Given the description of an element on the screen output the (x, y) to click on. 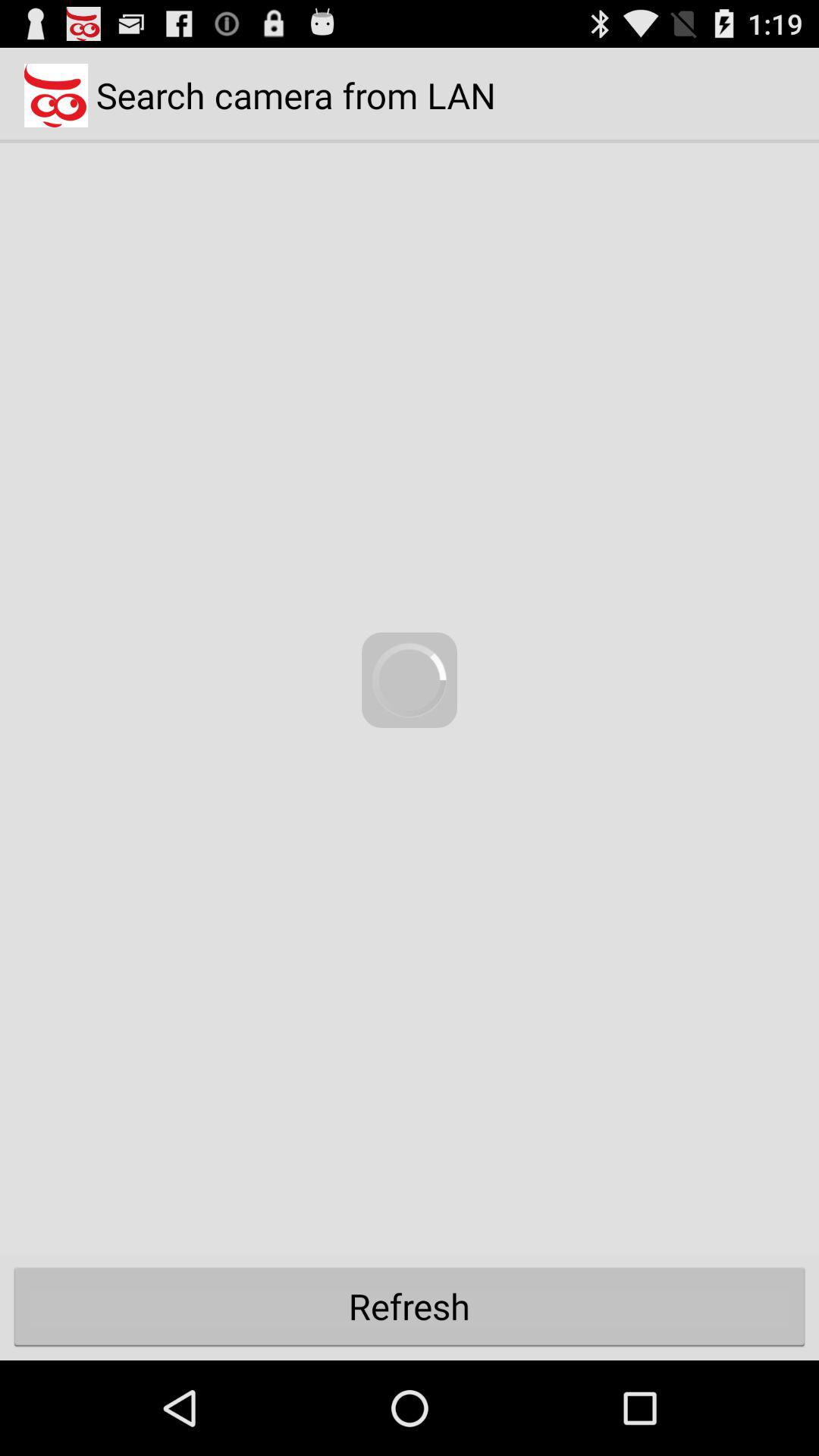
click the icon at the bottom (409, 1306)
